Given the description of an element on the screen output the (x, y) to click on. 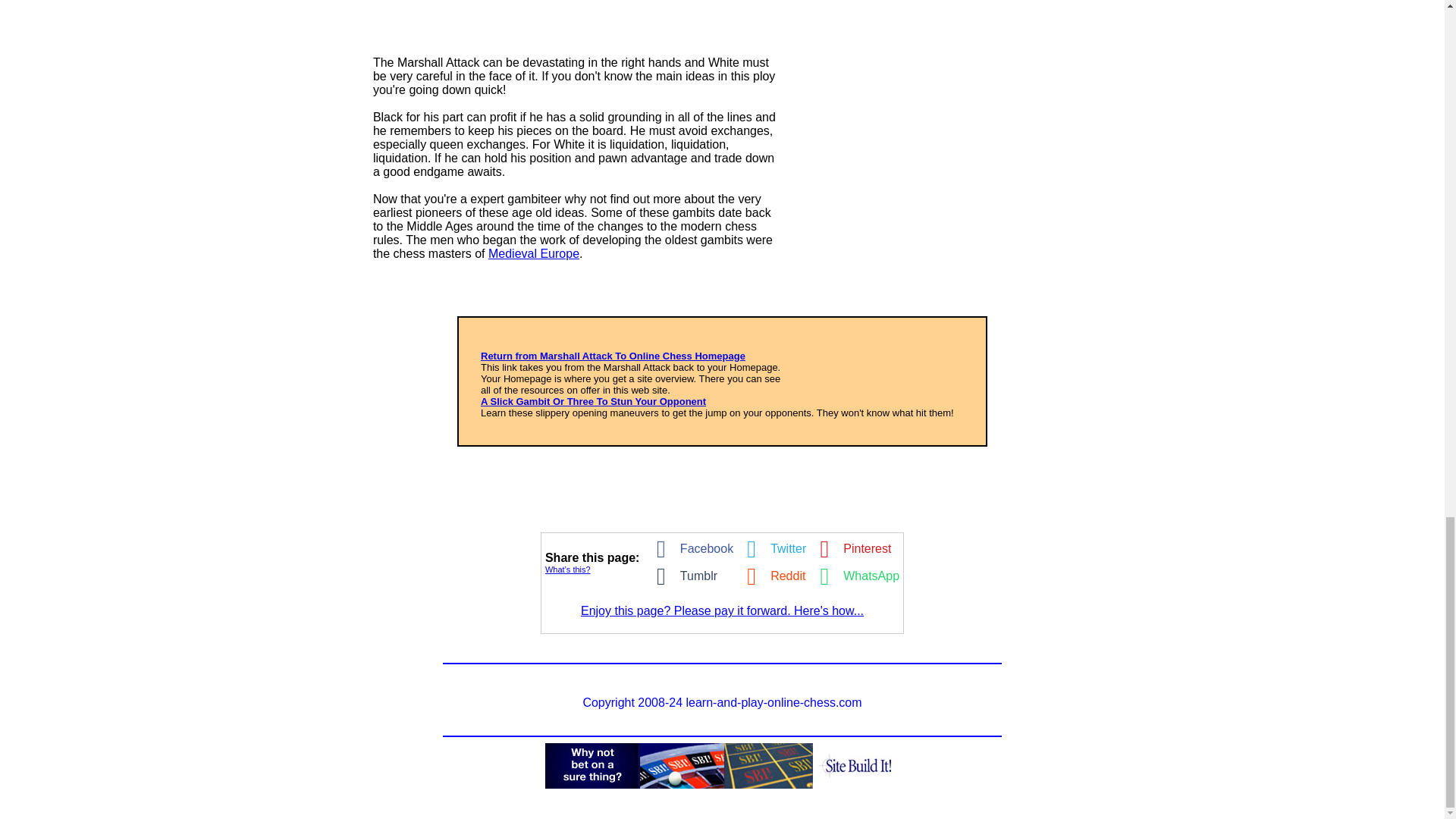
Advertisement (942, 198)
Medieval Europe (533, 253)
Return from Marshall Attack To Online Chess Homepage (612, 355)
A Slick Gambit Or Three To Stun Your Opponent (593, 401)
